Given the description of an element on the screen output the (x, y) to click on. 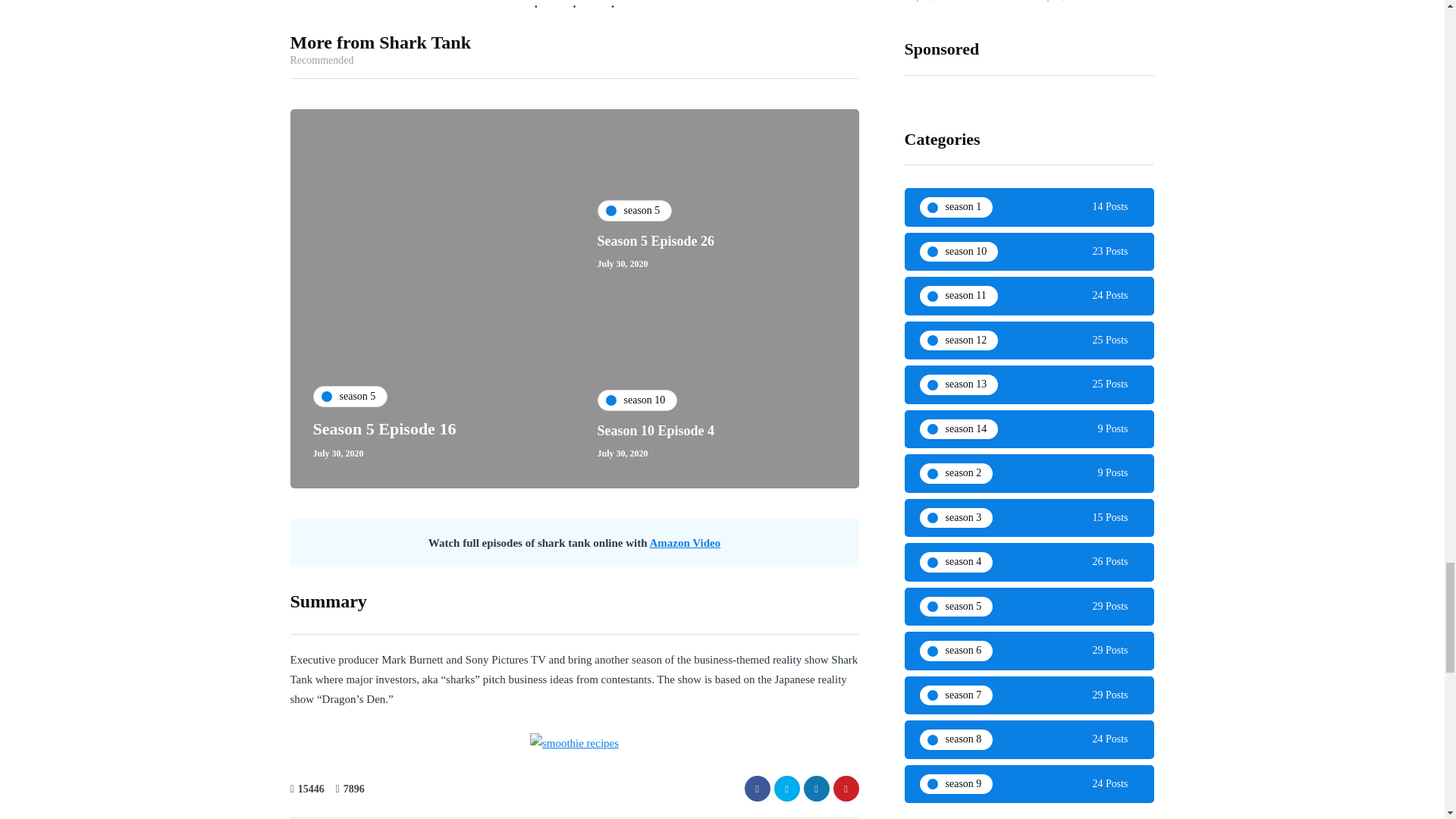
Pin this (845, 788)
Share with Facebook (757, 788)
Share with LinkedIn (816, 788)
Tweet this (786, 788)
